Given the description of an element on the screen output the (x, y) to click on. 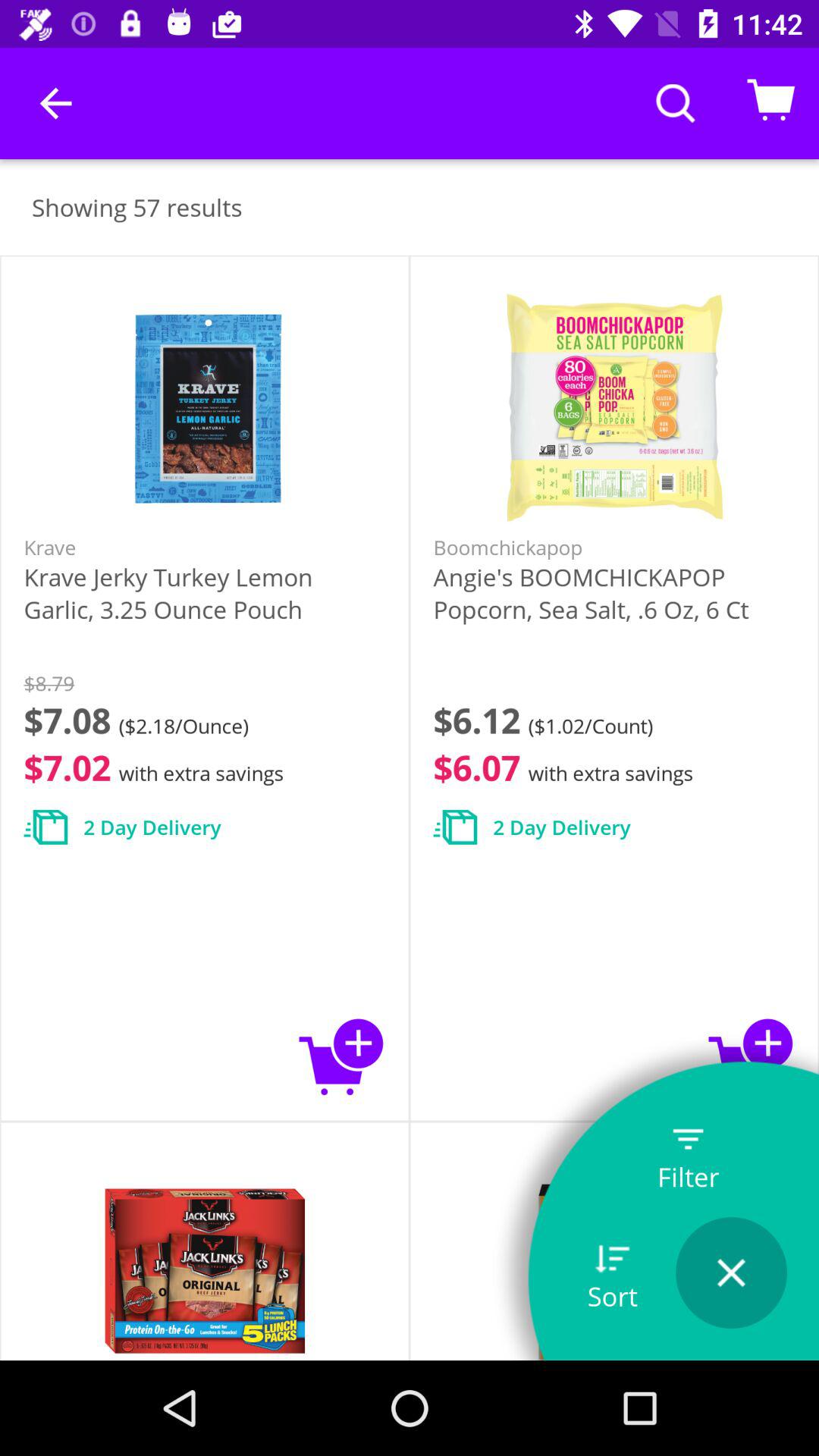
close (731, 1272)
